Given the description of an element on the screen output the (x, y) to click on. 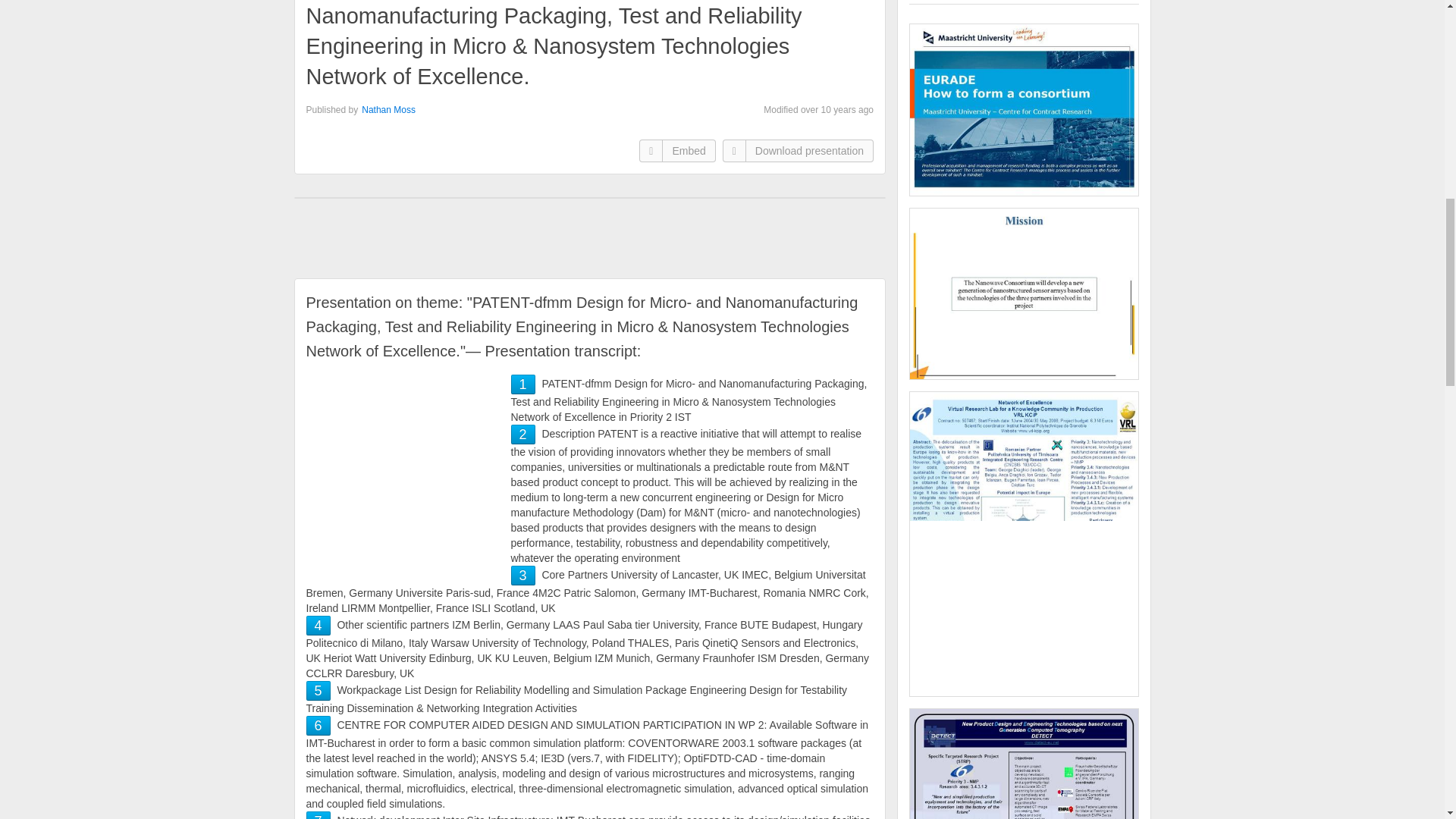
Nathan Moss (387, 109)
